Given the description of an element on the screen output the (x, y) to click on. 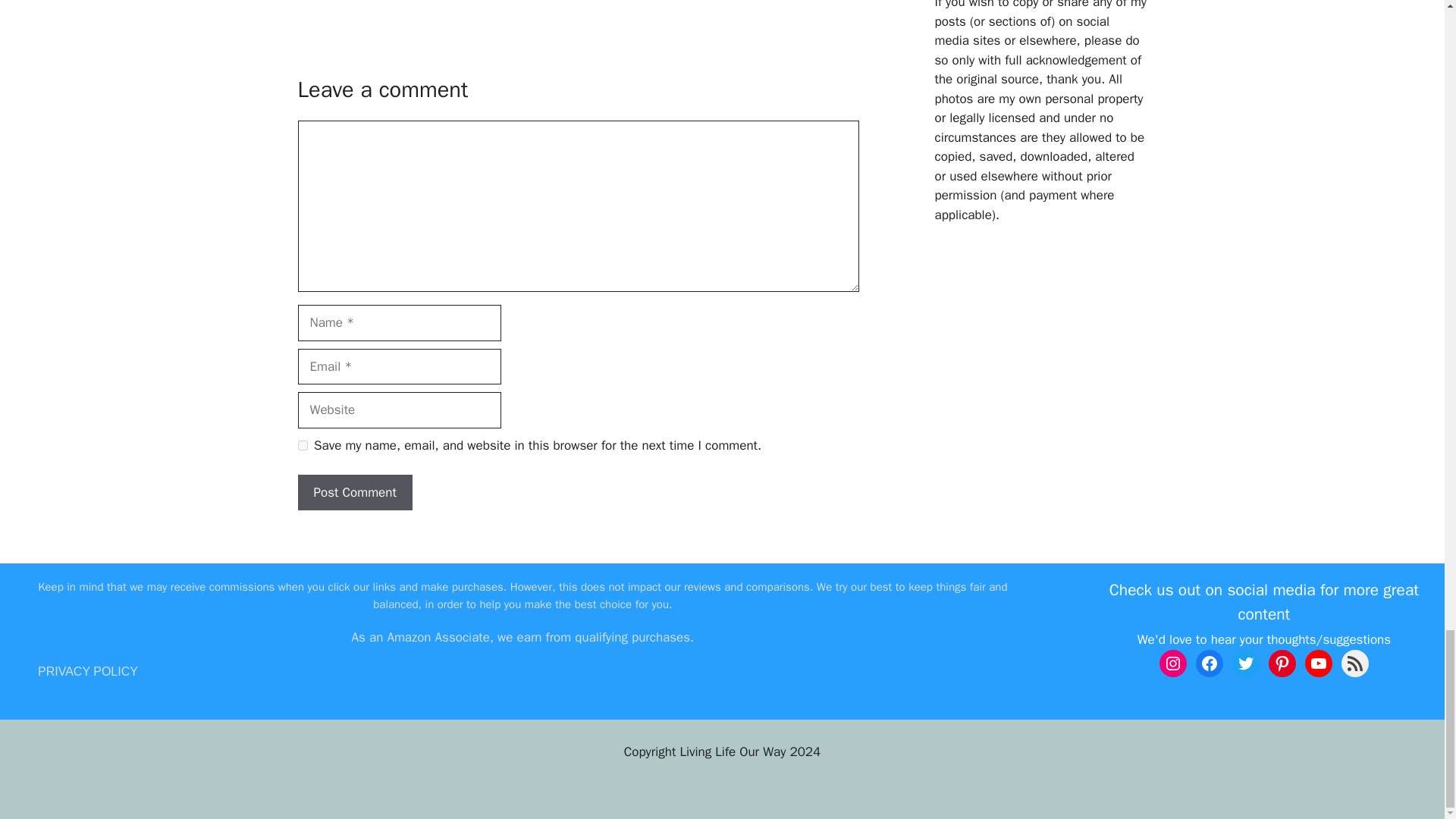
Post Comment (354, 493)
yes (302, 445)
Post Comment (354, 493)
